Given the description of an element on the screen output the (x, y) to click on. 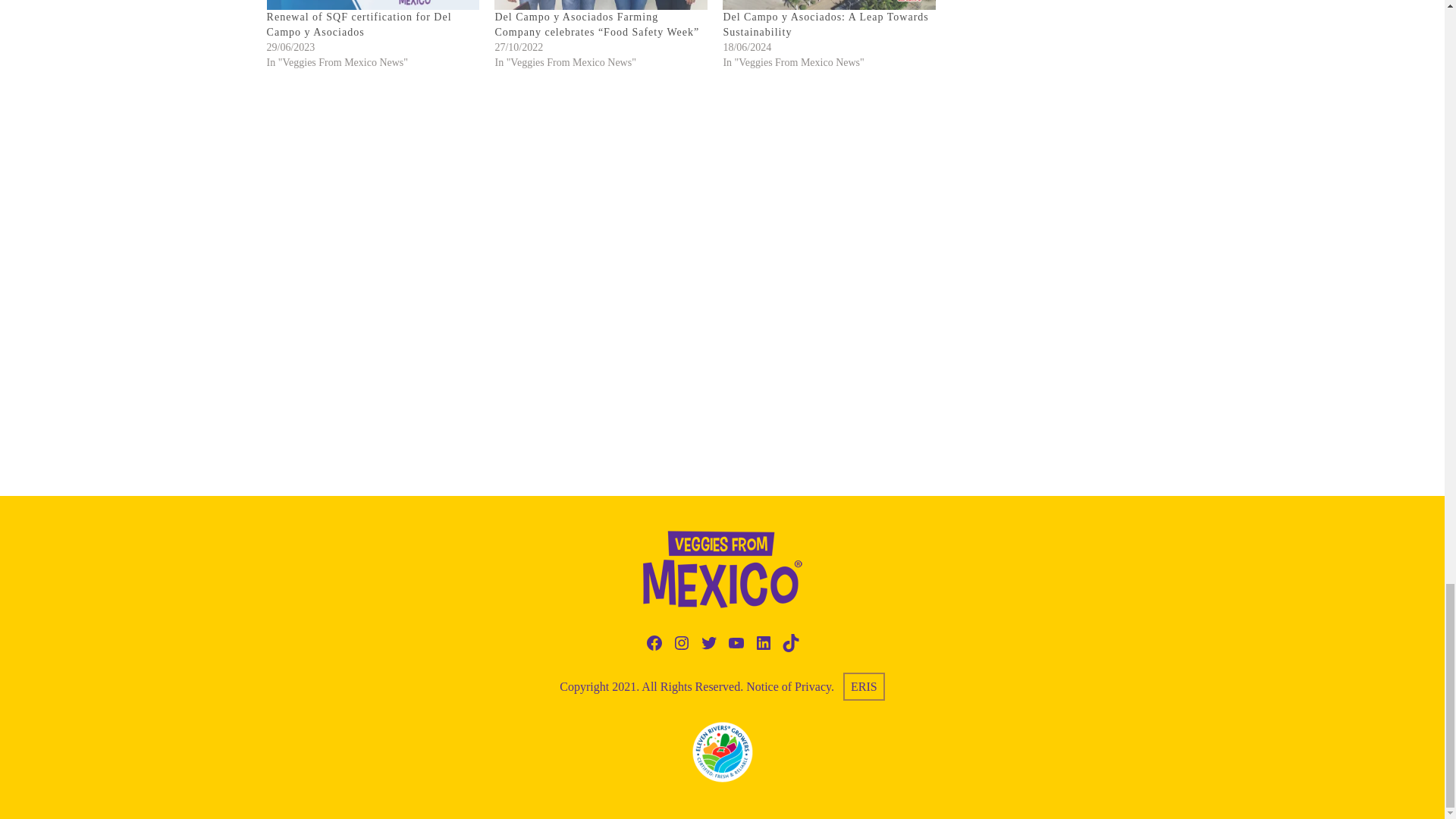
Del Campo y Asociados: A Leap Towards Sustainability (825, 24)
Facebook (653, 642)
Renewal of SQF certification for Del Campo y Asociados (358, 24)
Instagram (680, 642)
Del Campo y Asociados: A Leap Towards Sustainability (825, 24)
Renewal of SQF certification for Del Campo y Asociados (373, 5)
Del Campo y Asociados: A Leap Towards Sustainability (829, 5)
Renewal of SQF certification for Del Campo y Asociados (358, 24)
